Given the description of an element on the screen output the (x, y) to click on. 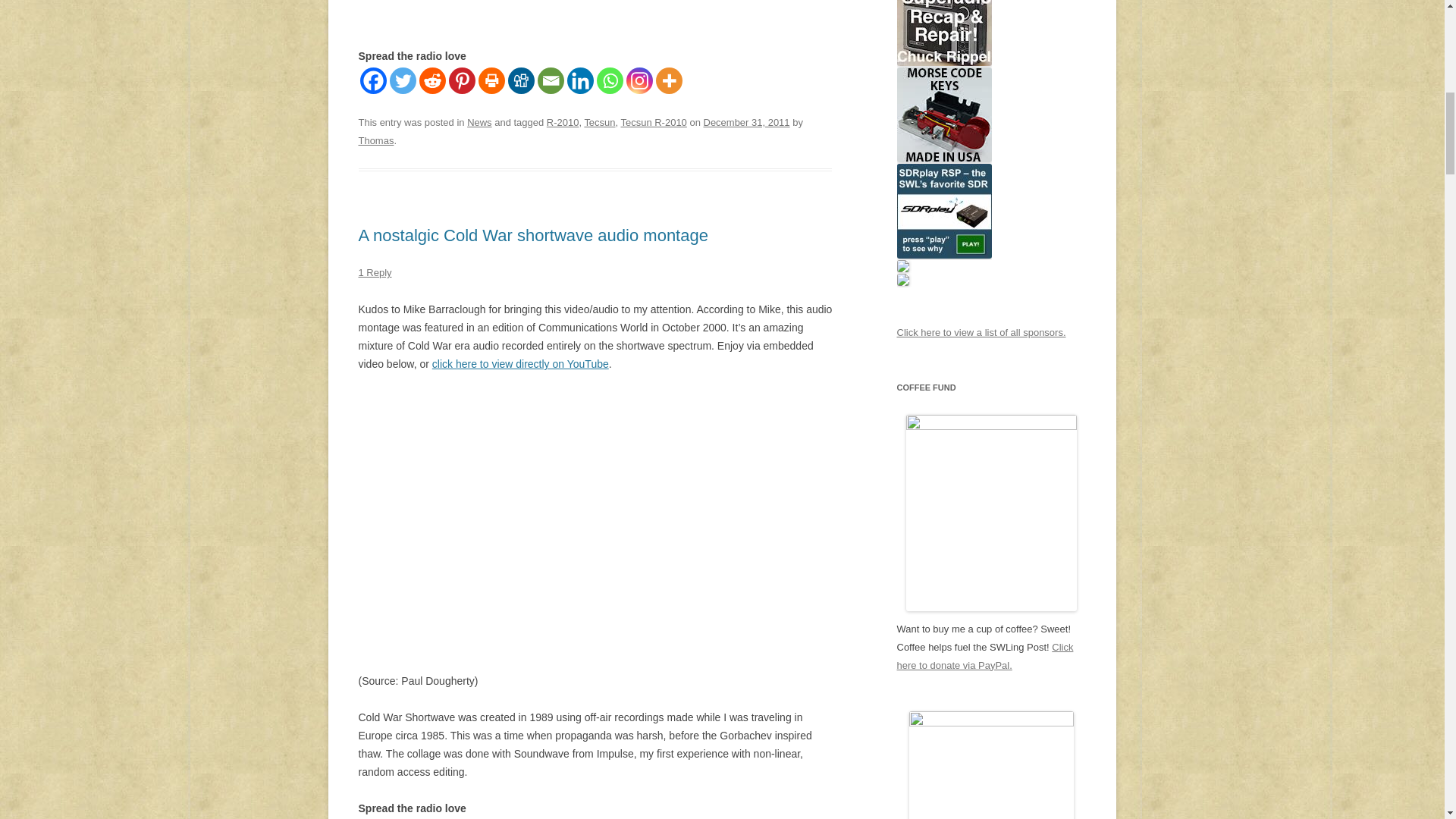
Pinterest (462, 80)
R-2010 (563, 122)
Tecsun R-2010 (652, 122)
Twitter (403, 80)
Print (490, 80)
Email (550, 80)
December 31, 2011 (746, 122)
Facebook (372, 80)
A nostalgic Cold War shortwave audio montage (532, 235)
News (479, 122)
Tecsun (598, 122)
Instagram (639, 80)
10:48 am (746, 122)
1 Reply (374, 272)
Linkedin (580, 80)
